Given the description of an element on the screen output the (x, y) to click on. 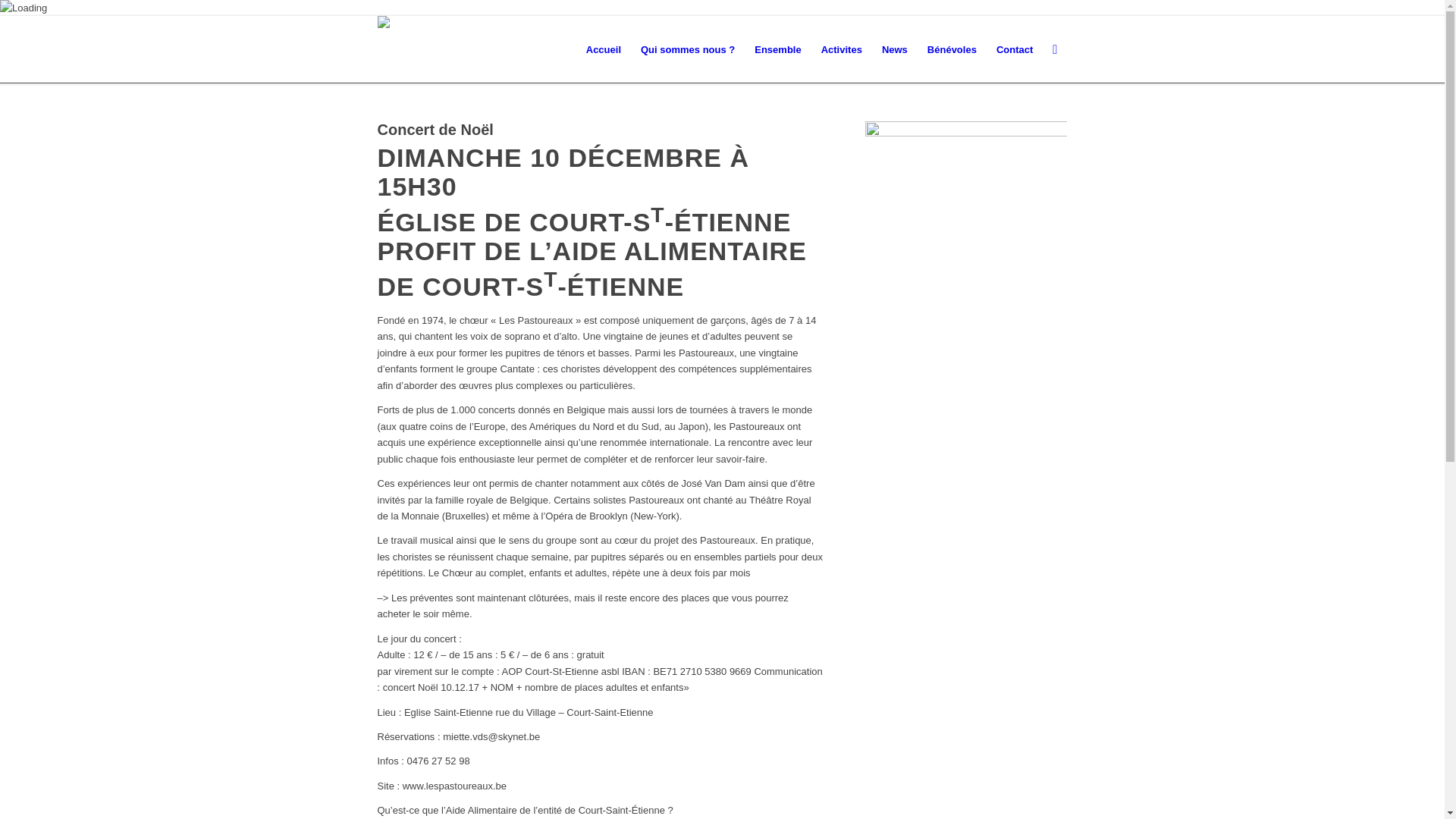
Loading Element type: hover (23, 7)
Logo Element type: hover (401, 23)
Ensemble Element type: text (777, 49)
News Element type: text (894, 49)
Contact Element type: text (1014, 49)
Qui sommes nous ? Element type: text (687, 49)
Accueil Element type: text (603, 49)
Activites Element type: text (841, 49)
